Given the description of an element on the screen output the (x, y) to click on. 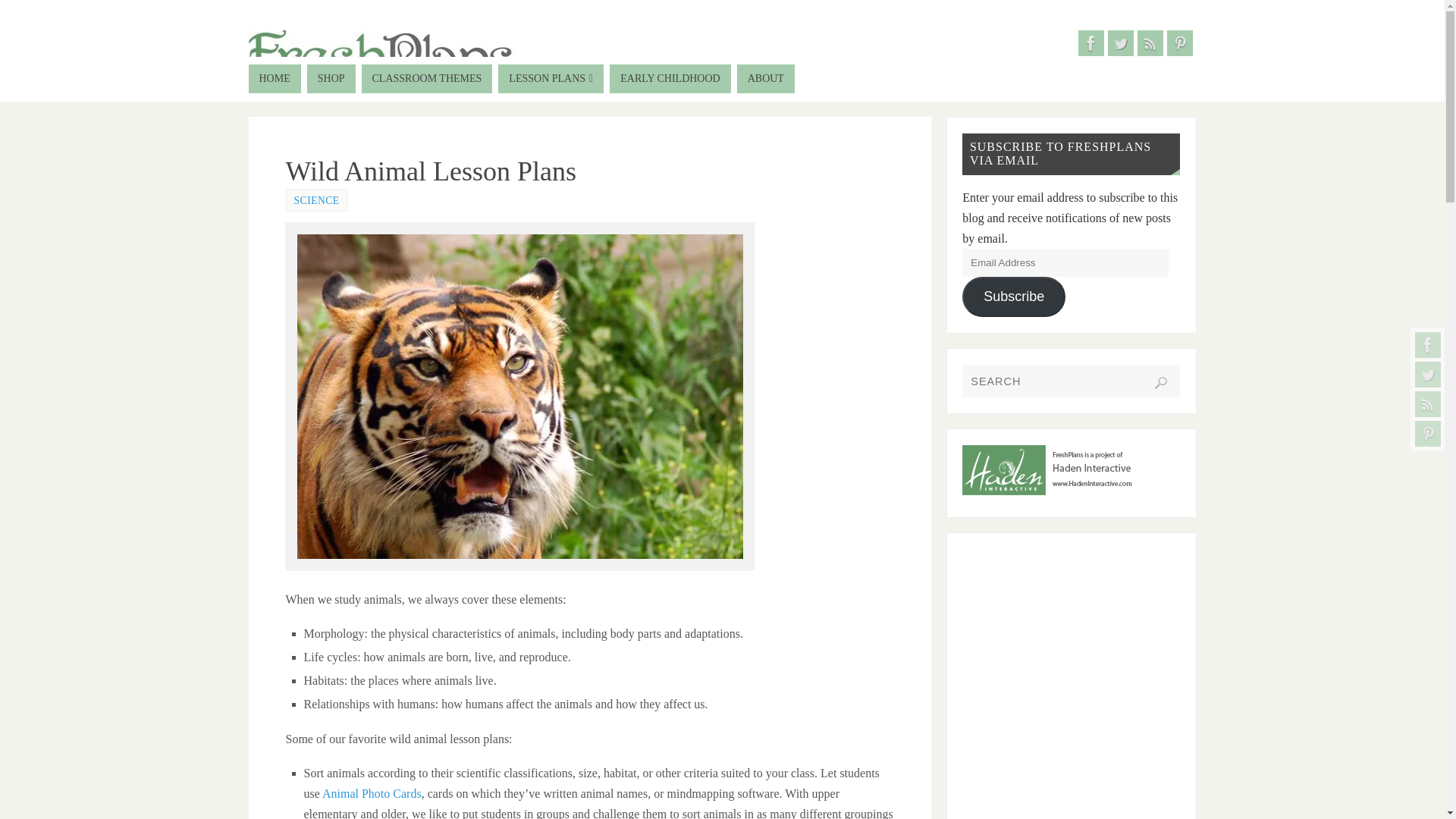
Twitter (1119, 43)
CLASSROOM THEMES (427, 78)
Pinterest (1179, 43)
Facebook (1090, 43)
EARLY CHILDHOOD (670, 78)
LESSON PLANS (550, 78)
Pinterest (1428, 433)
ABOUT (765, 78)
Facebook (1428, 344)
FreshPlans (386, 68)
